Given the description of an element on the screen output the (x, y) to click on. 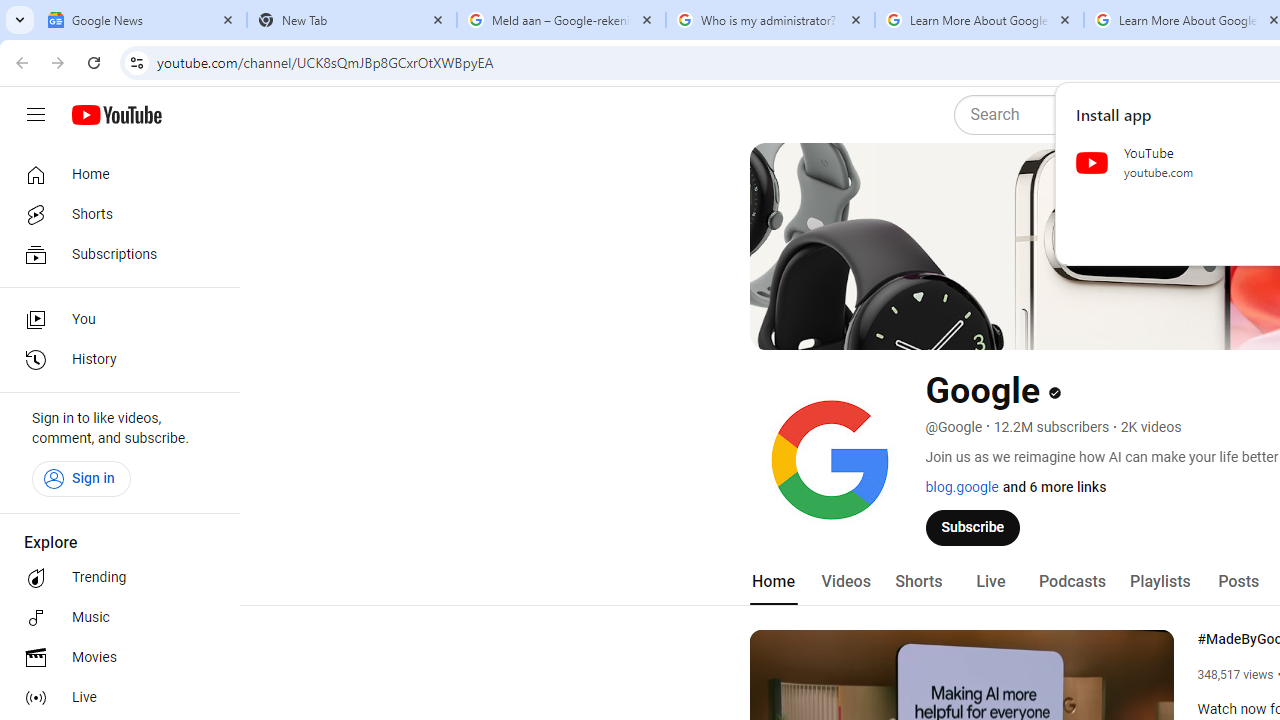
Trending (113, 578)
Google News (142, 20)
History (113, 359)
Guide (35, 115)
Shorts (918, 581)
blog.google (961, 487)
Music (113, 617)
and 6 more links (1054, 487)
Who is my administrator? - Google Account Help (770, 20)
